Given the description of an element on the screen output the (x, y) to click on. 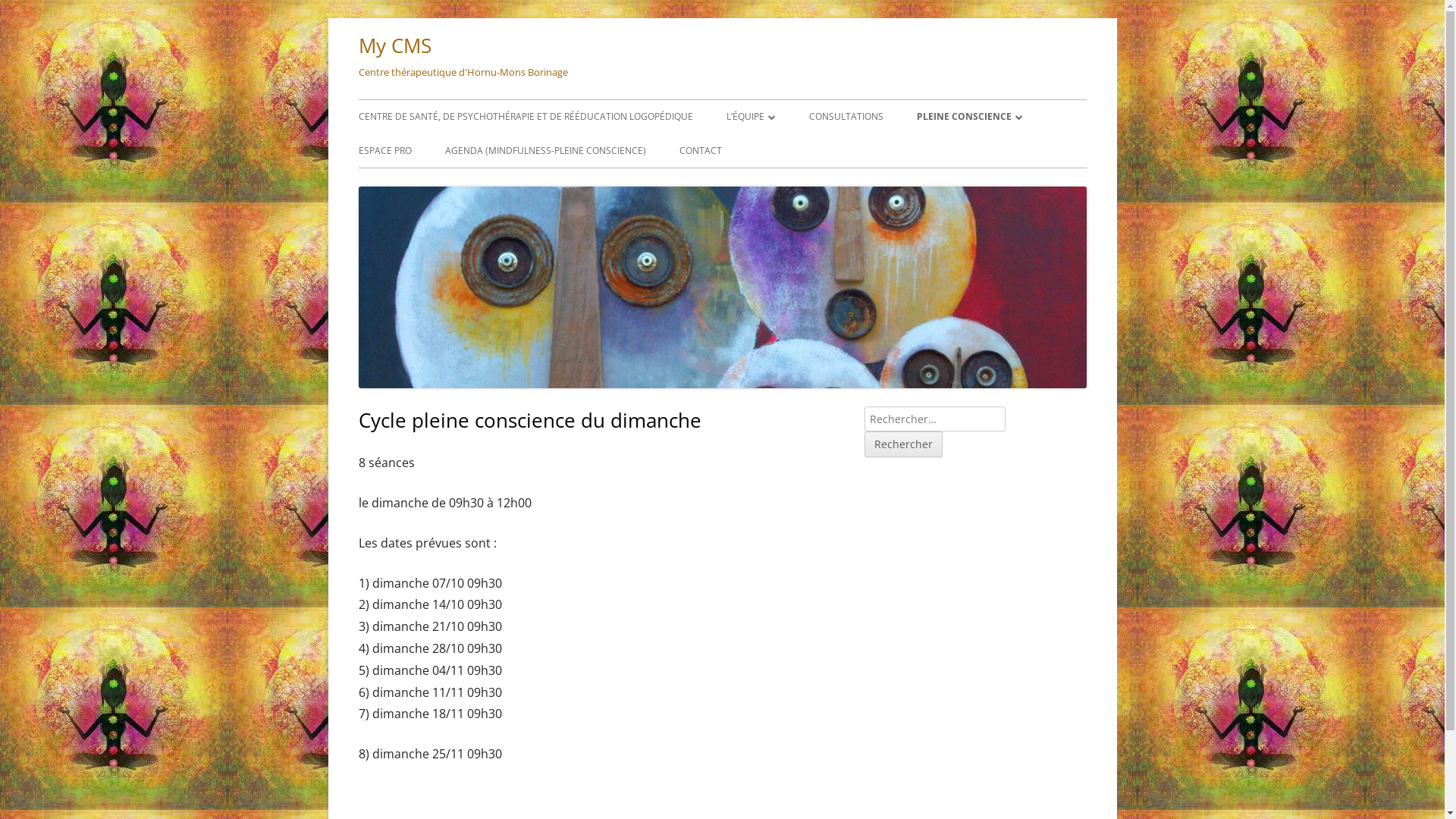
PLEINE CONSCIENCE Element type: text (969, 116)
CYCLE DU VENDREDI Element type: text (1002, 149)
ESPACE PRO Element type: text (384, 150)
AGENDA (MINDFULNESS-PLEINE CONSCIENCE) Element type: text (544, 150)
CONTACT Element type: text (700, 150)
My CMS Element type: text (393, 45)
Rechercher Element type: text (903, 444)
CONSULTATIONS Element type: text (845, 116)
